Given the description of an element on the screen output the (x, y) to click on. 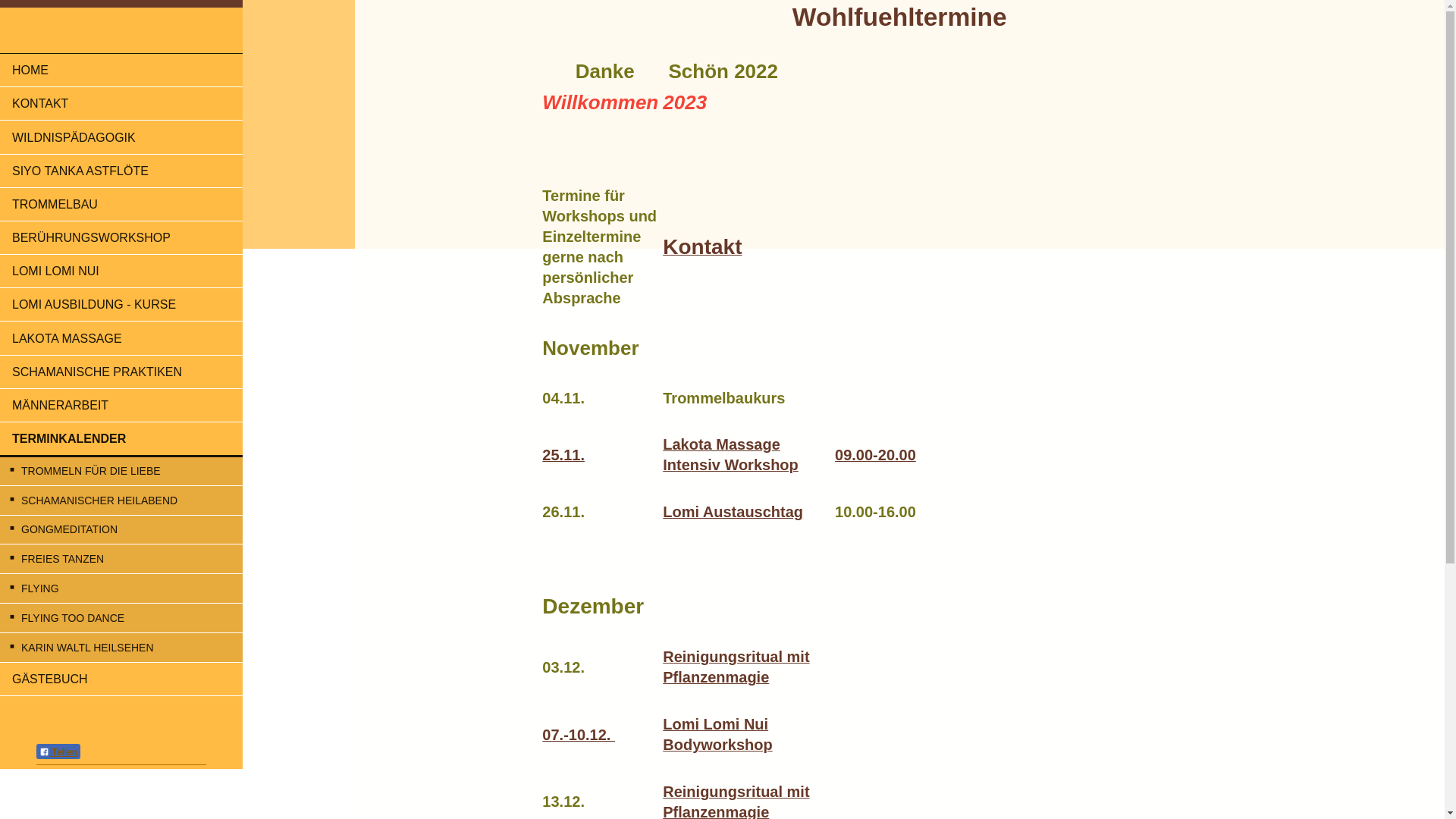
09.00-20.00 Element type: text (875, 455)
Teilen Element type: text (58, 751)
TERMINKALENDER Element type: text (121, 439)
Reinigungsritual mit Pflanzenmagie Element type: text (735, 667)
FLYING Element type: text (121, 588)
LAKOTA MASSAGE Element type: text (121, 337)
Kontakt Element type: text (701, 249)
FLYING TOO DANCE Element type: text (121, 617)
HOME Element type: text (121, 69)
Lomi Lomi Nui Bodyworkshop Element type: text (716, 735)
Lomi Austauschtag Element type: text (732, 512)
SCHAMANISCHER HEILABEND Element type: text (121, 500)
07.-10.12.  Element type: text (578, 735)
TROMMELBAU Element type: text (121, 204)
KONTAKT Element type: text (121, 103)
LOMI LOMI NUI Element type: text (121, 270)
25.11. Element type: text (563, 455)
FREIES TANZEN Element type: text (121, 558)
GONGMEDITATION Element type: text (121, 529)
KARIN WALTL HEILSEHEN Element type: text (121, 647)
Lakota Massage Intensiv Workshop Element type: text (730, 455)
LOMI AUSBILDUNG - KURSE Element type: text (121, 304)
SCHAMANISCHE PRAKTIKEN Element type: text (121, 371)
